Given the description of an element on the screen output the (x, y) to click on. 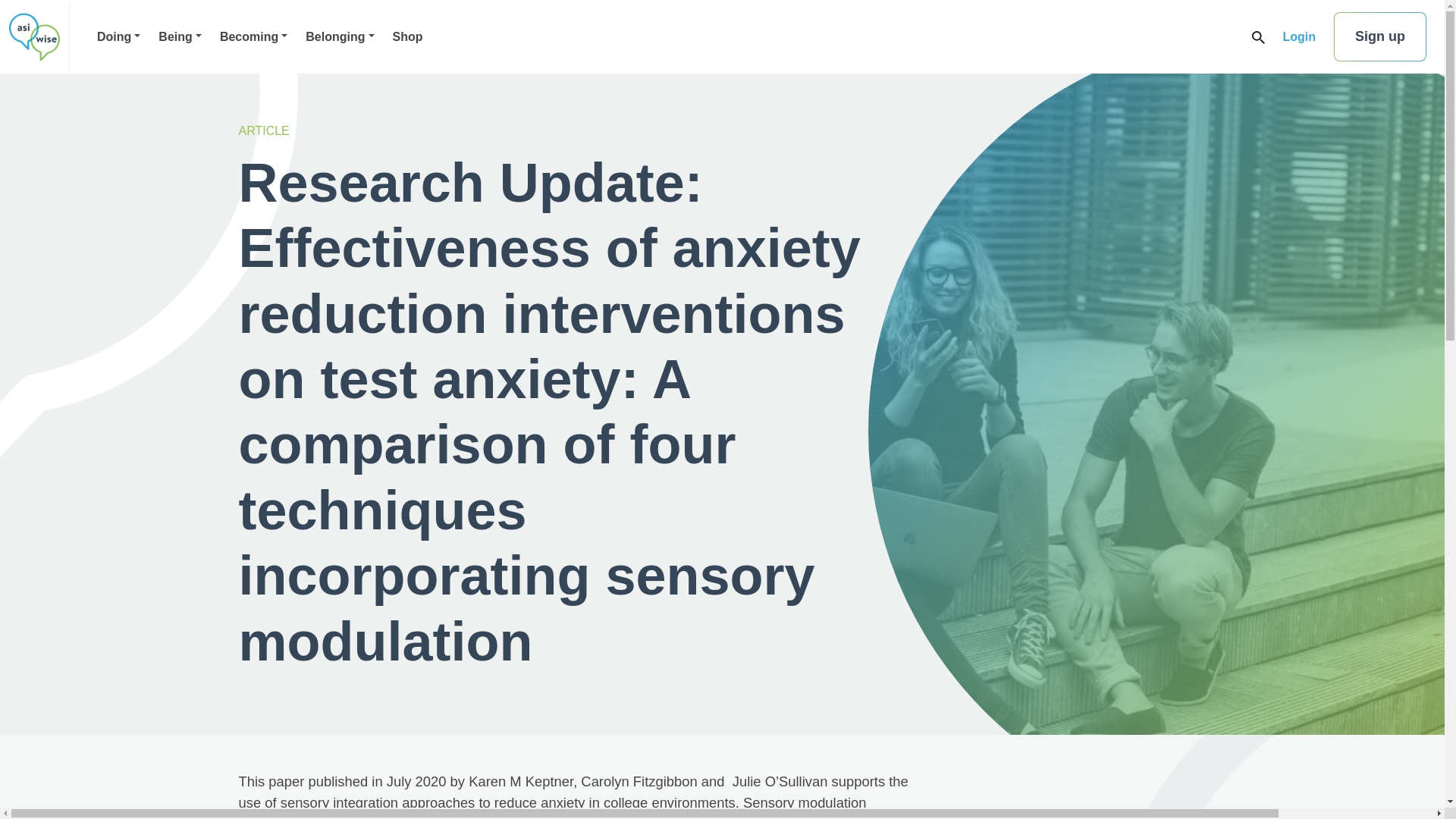
Sign up (1379, 36)
Doing (118, 36)
Belonging (339, 36)
Being (180, 36)
Becoming (252, 36)
Login (1299, 36)
Becoming (252, 36)
Being (180, 36)
Belonging (339, 36)
